Given the description of an element on the screen output the (x, y) to click on. 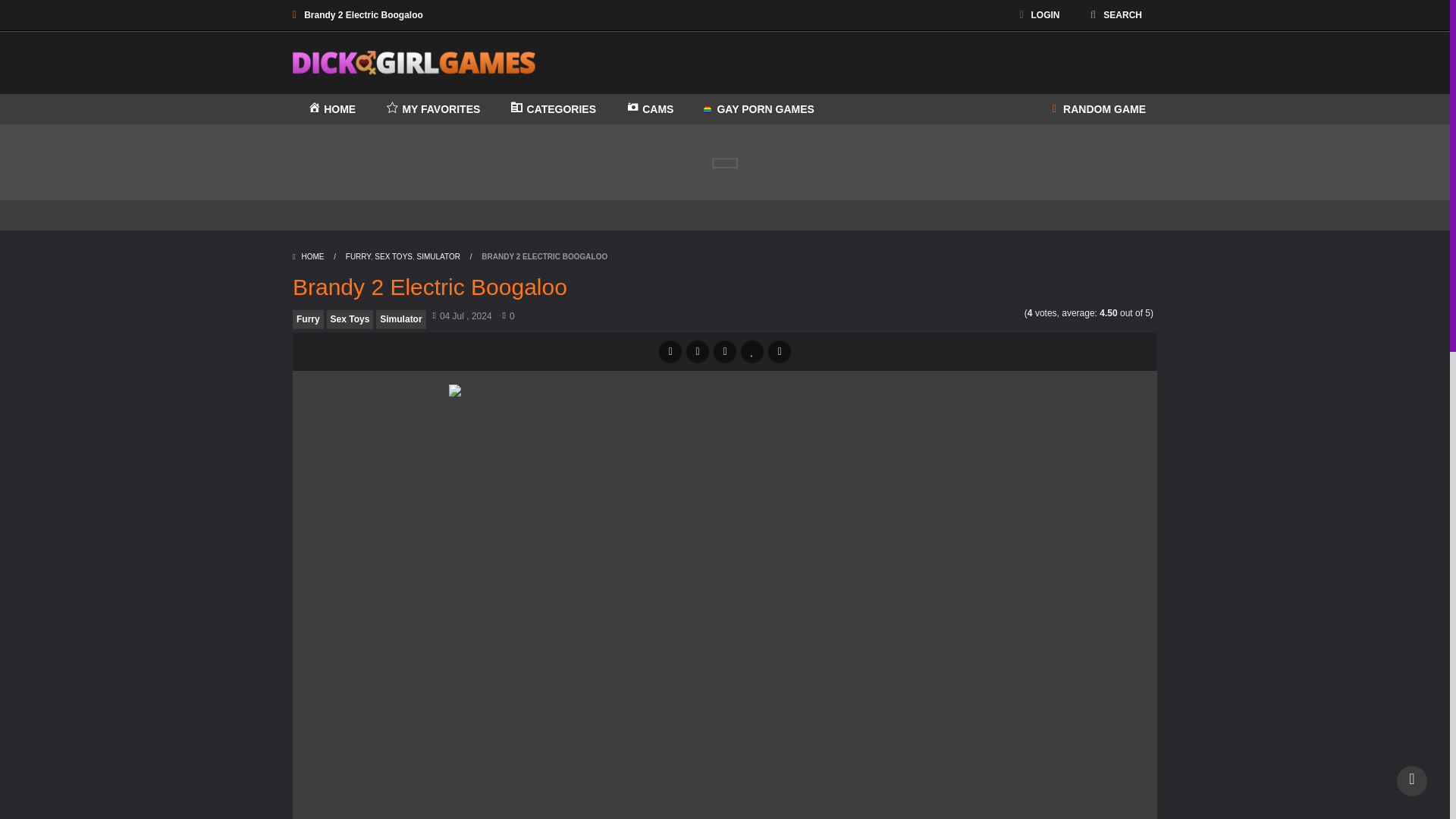
MY FAVORITES (433, 109)
CAMS (649, 109)
Dick Girl Games (413, 62)
CATEGORIES (553, 109)
Free Gay Porn Games (758, 109)
LOGIN (1038, 15)
RANDOM GAME (1099, 109)
GAY PORN GAMES (758, 109)
HOME (331, 109)
SEARCH (1115, 15)
Play a random game! (1099, 109)
Dick Girl Games (413, 61)
